Given the description of an element on the screen output the (x, y) to click on. 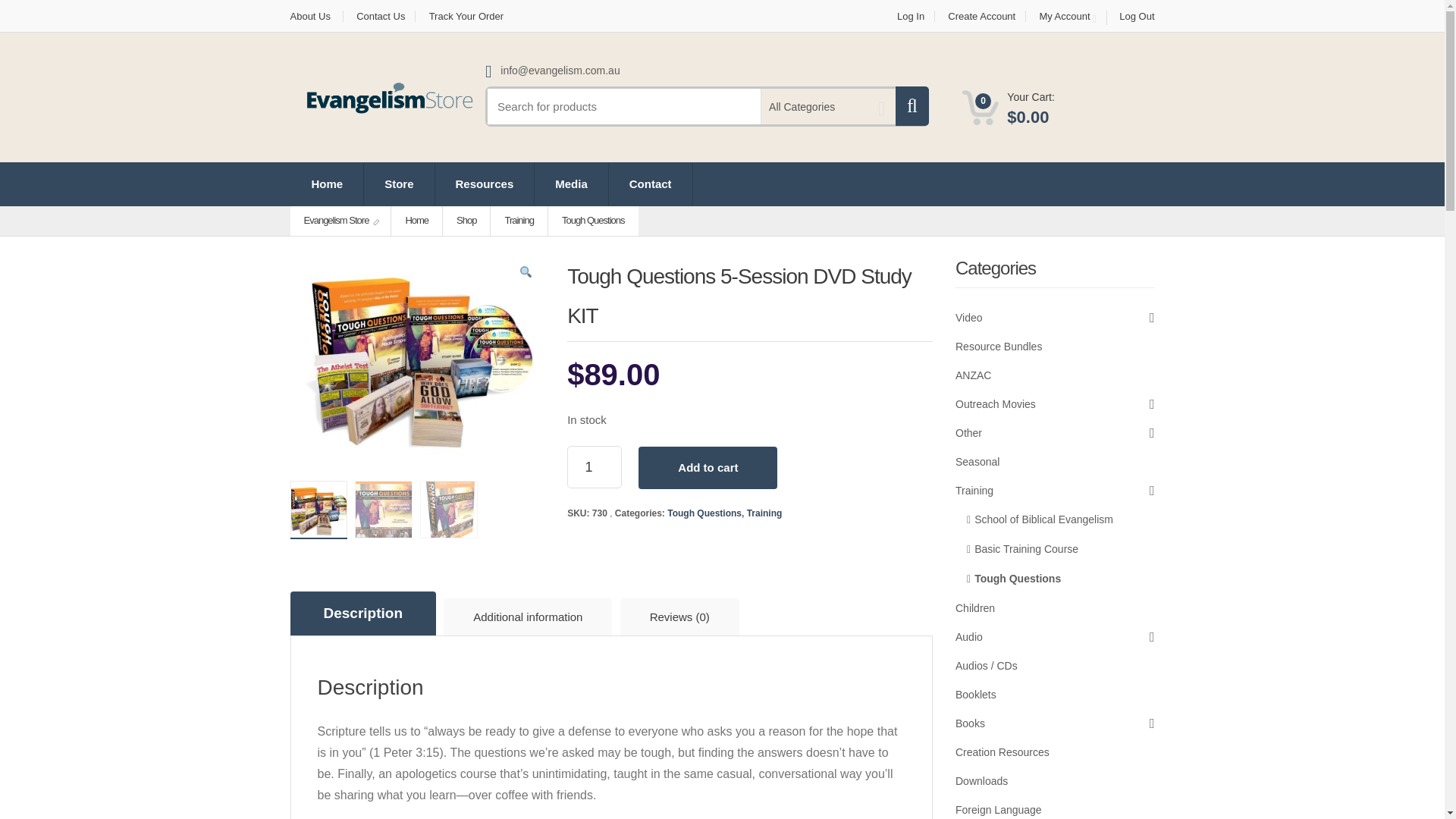
Create Account (981, 16)
Log Out (1131, 16)
Contact Us (380, 16)
Track Your Order (466, 16)
About Us (315, 16)
Contact Us (380, 16)
My Account (1067, 17)
Log Out (1131, 16)
Store (398, 183)
Home (327, 183)
1 (594, 466)
Track Your Order (466, 16)
Log In (910, 16)
Log In (910, 16)
Create Account (981, 16)
